Given the description of an element on the screen output the (x, y) to click on. 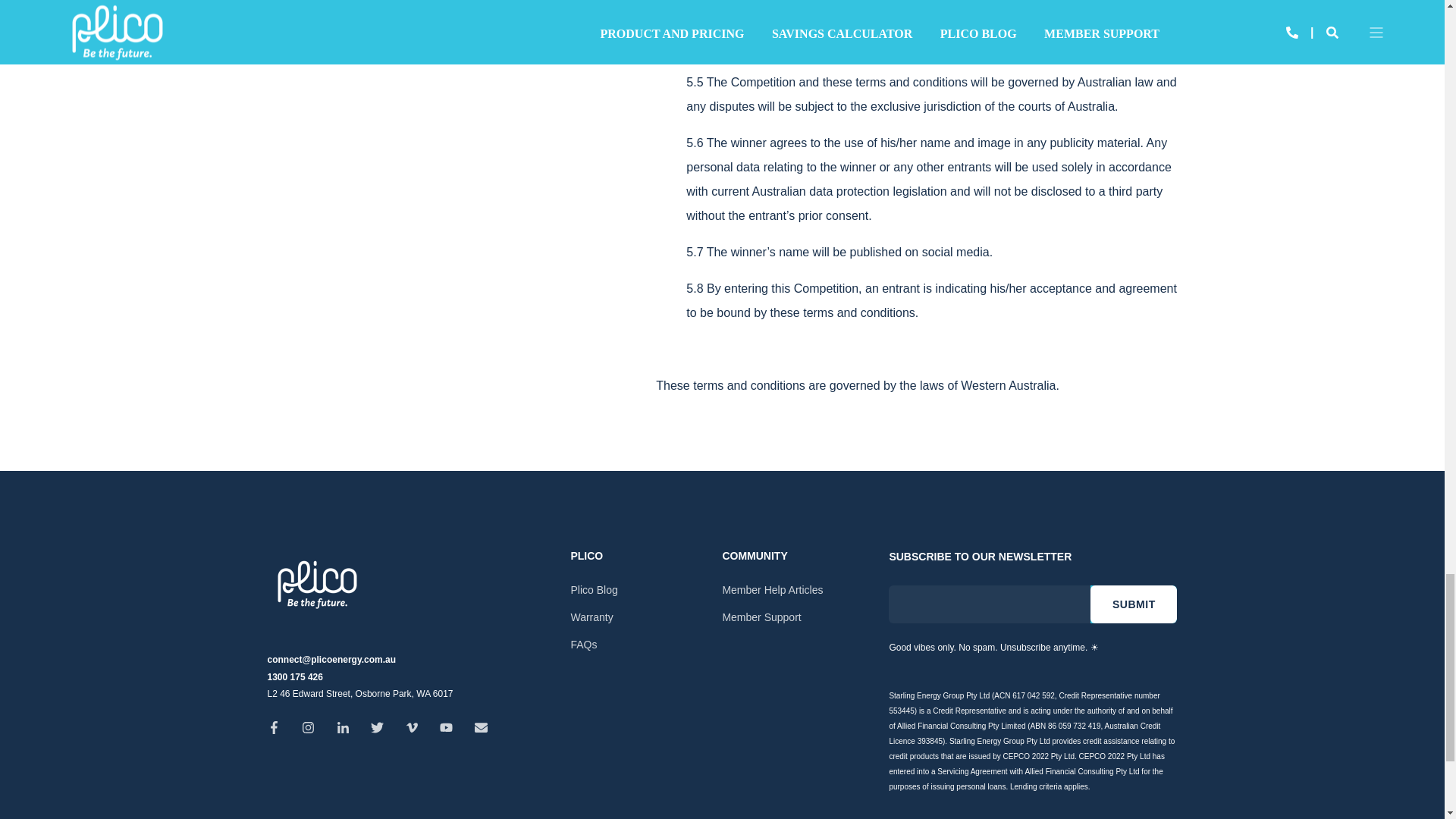
Submit (1133, 604)
